Given the description of an element on the screen output the (x, y) to click on. 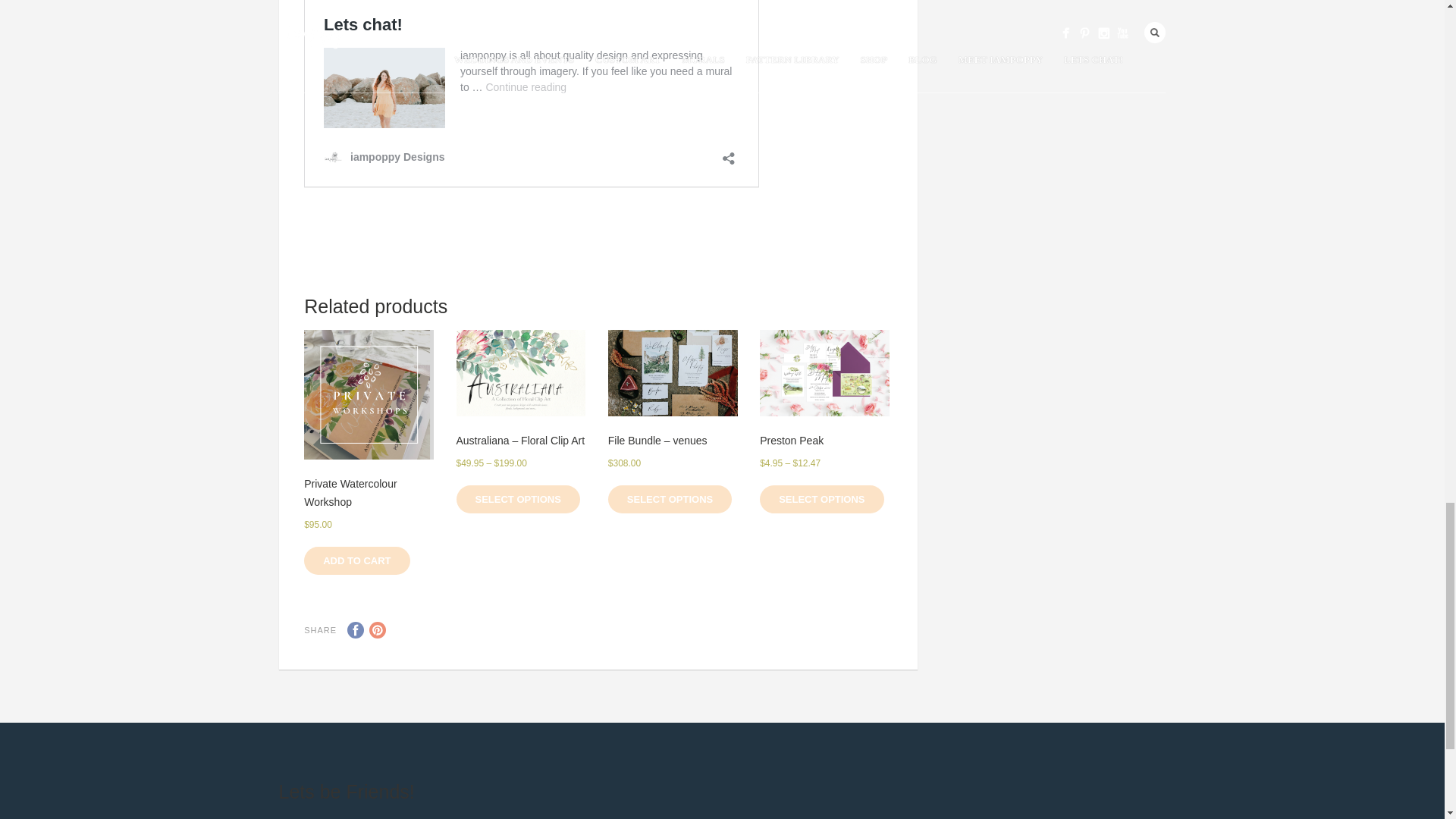
Pinterest (377, 629)
Facebook (355, 629)
